Given the description of an element on the screen output the (x, y) to click on. 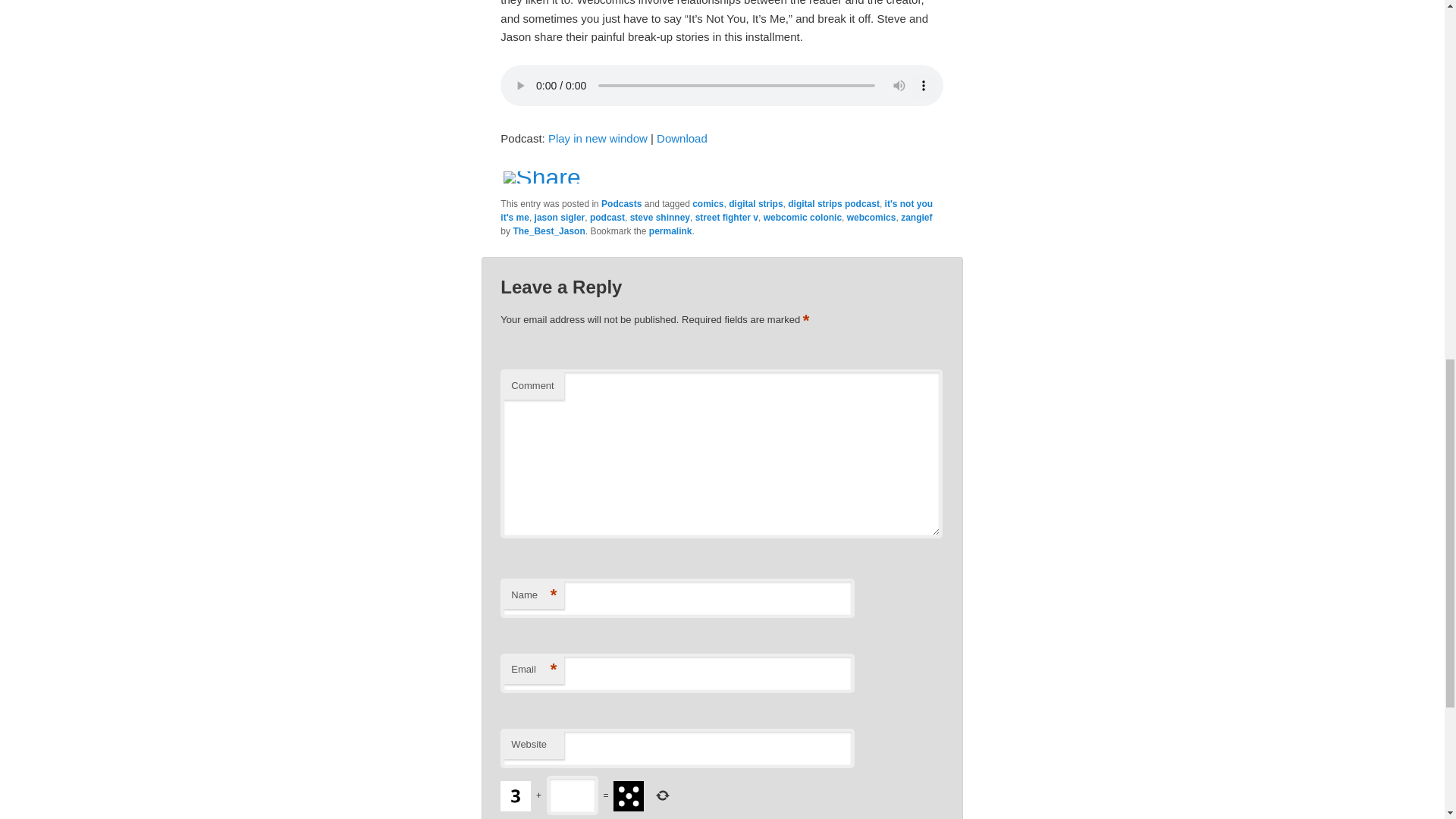
Play in new window (597, 137)
podcast (606, 217)
Download (681, 137)
permalink (671, 231)
it's not you it's me (716, 210)
Play in new window (597, 137)
Download (681, 137)
steve shinney (660, 217)
comics (708, 204)
digital strips podcast (833, 204)
